Given the description of an element on the screen output the (x, y) to click on. 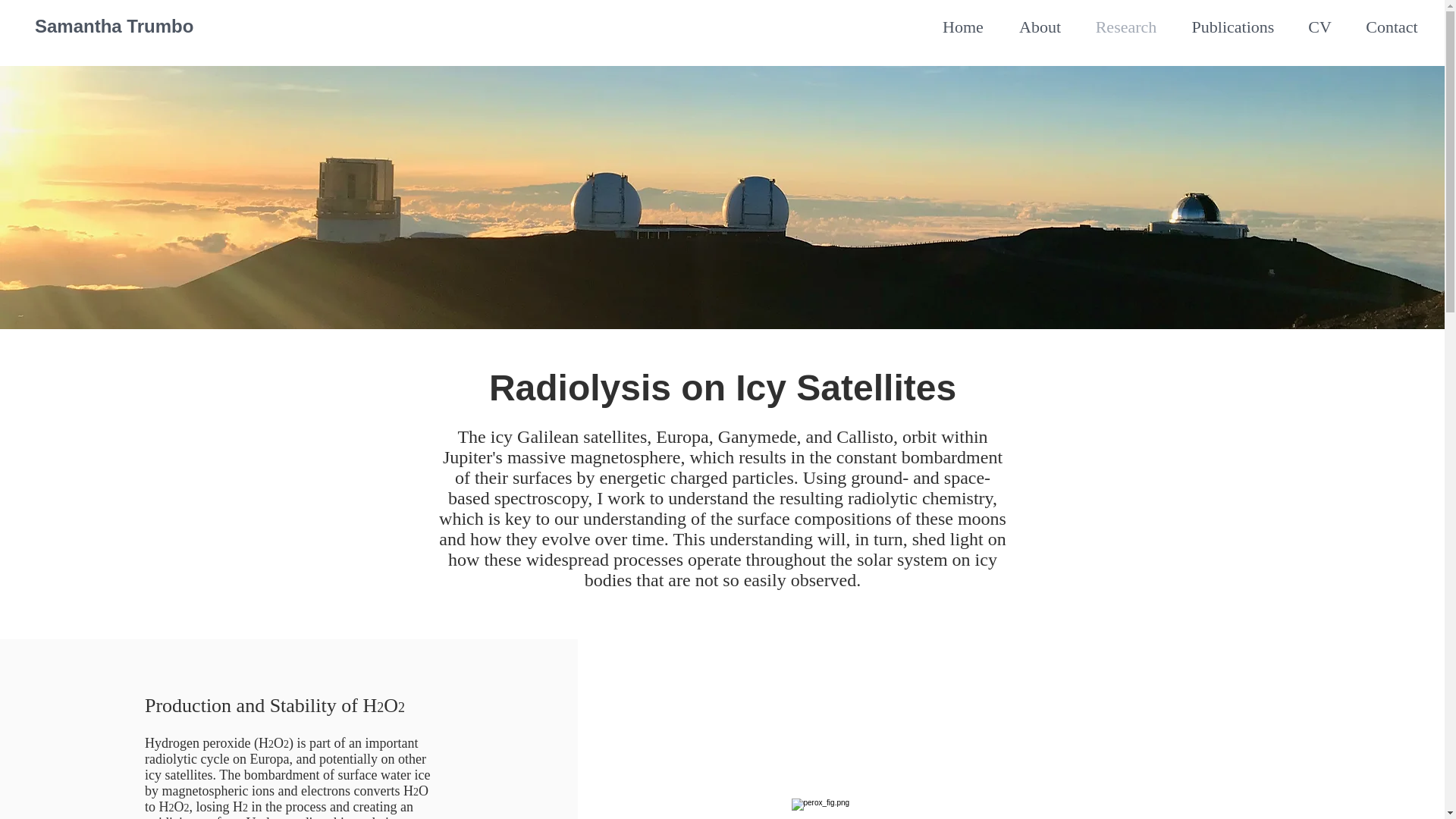
Samantha Trumbo (113, 25)
CV (1320, 26)
Contact (1391, 26)
Publications (1232, 26)
Home (962, 26)
About (1039, 26)
Research (1125, 26)
